Given the description of an element on the screen output the (x, y) to click on. 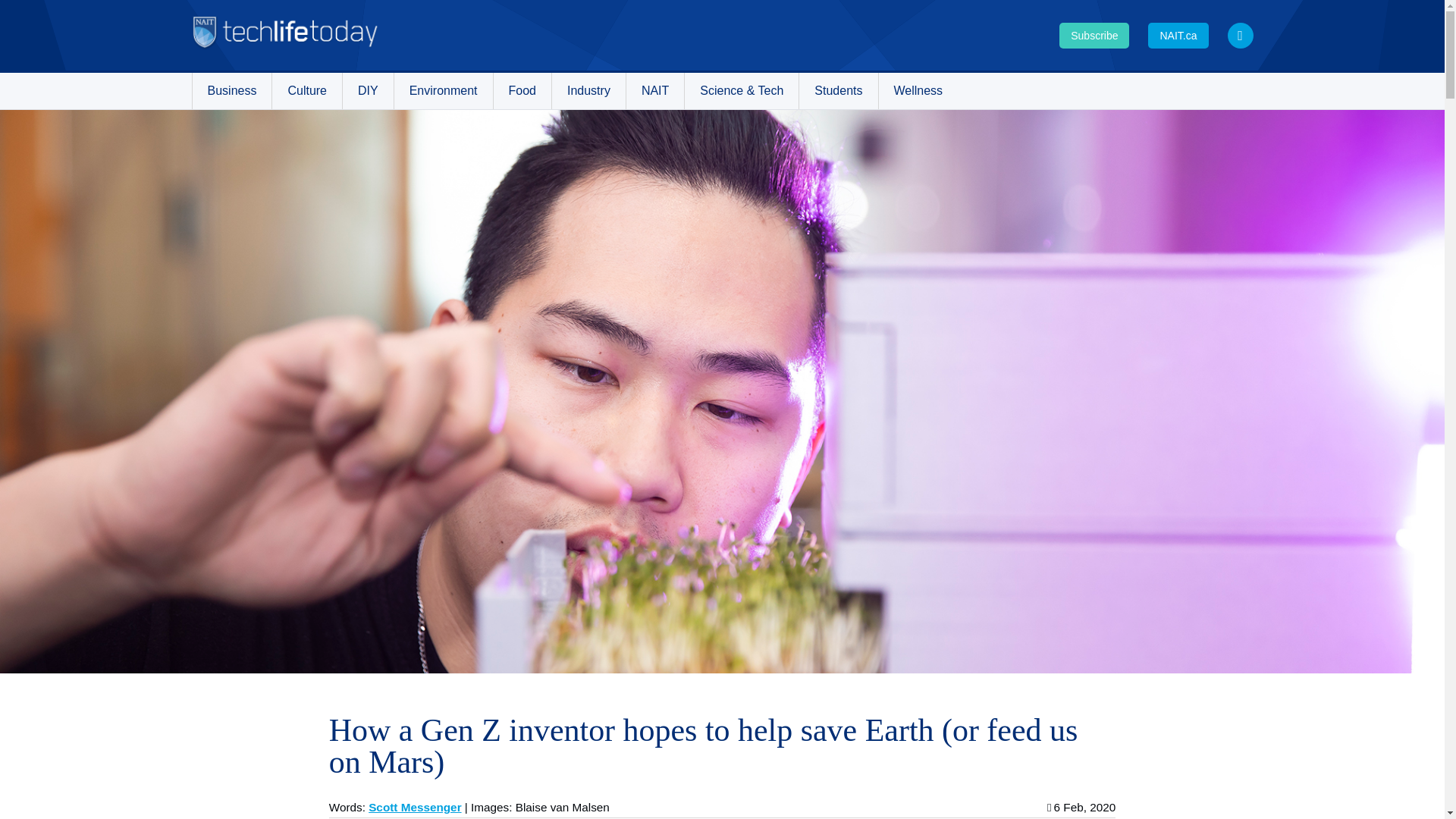
DIY (367, 90)
Students (838, 90)
NAIT.ca (1178, 35)
Industry (588, 90)
Subscribe (1094, 35)
Scott Messenger (414, 807)
Wellness (917, 90)
Food (521, 90)
Culture (307, 90)
Business (232, 90)
